Given the description of an element on the screen output the (x, y) to click on. 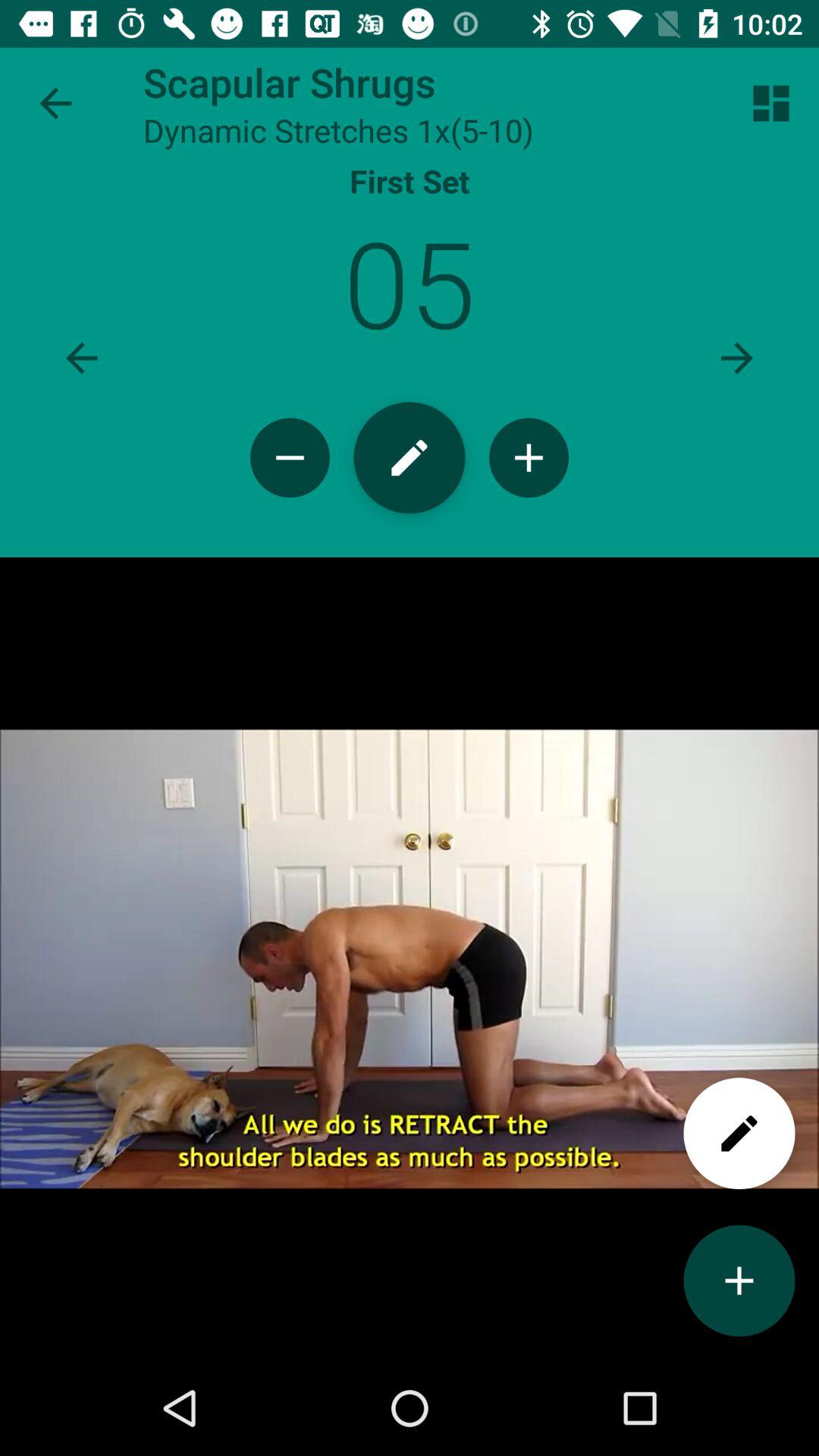
go to previous (81, 358)
